Given the description of an element on the screen output the (x, y) to click on. 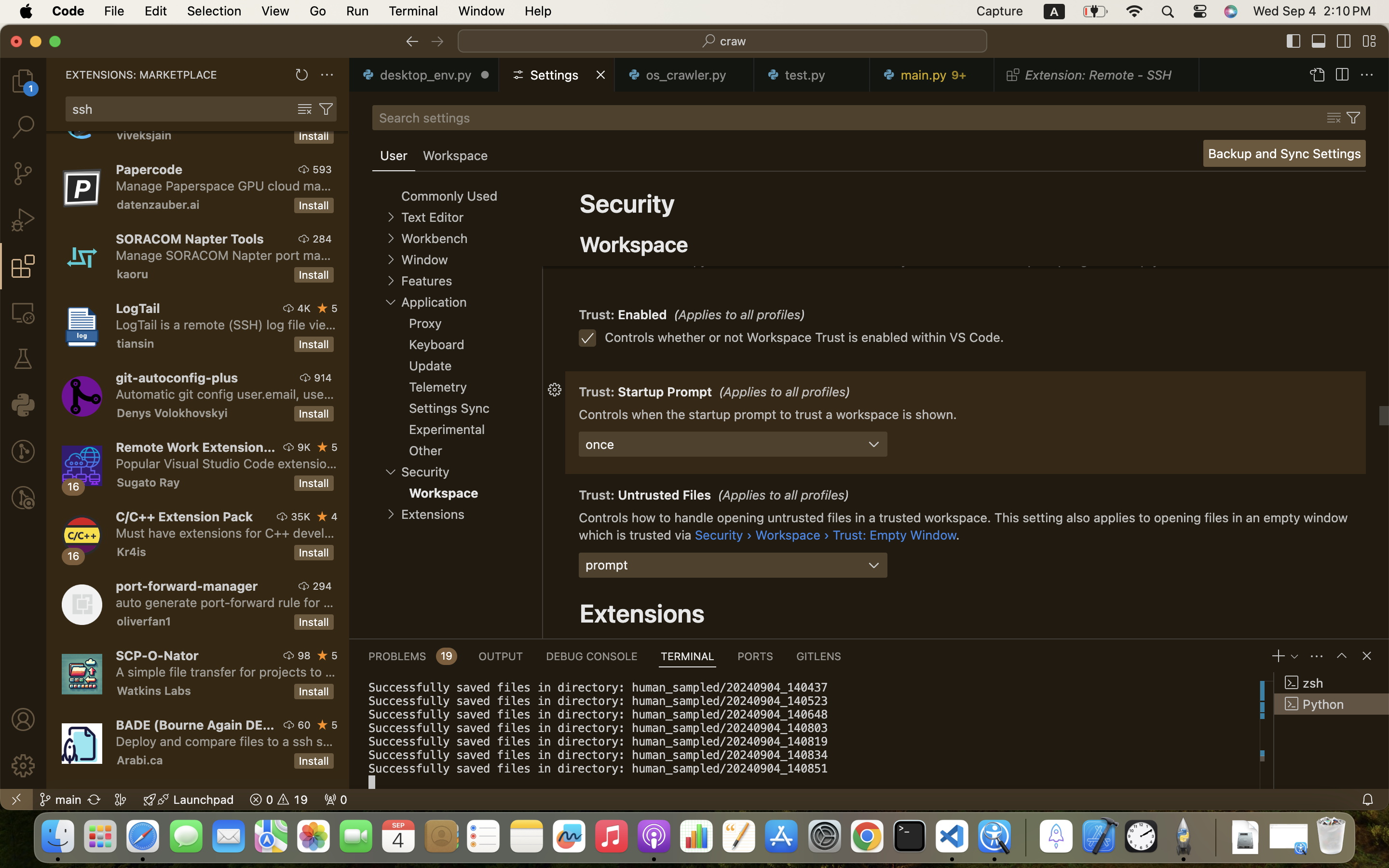
0 test.py   Element type: AXRadioButton (812, 74)
0 os_crawler.py   Element type: AXRadioButton (684, 74)
craw Element type: AXStaticText (733, 41)
19  0  Element type: AXButton (278, 799)
tiansin Element type: AXStaticText (135, 343)
